Given the description of an element on the screen output the (x, y) to click on. 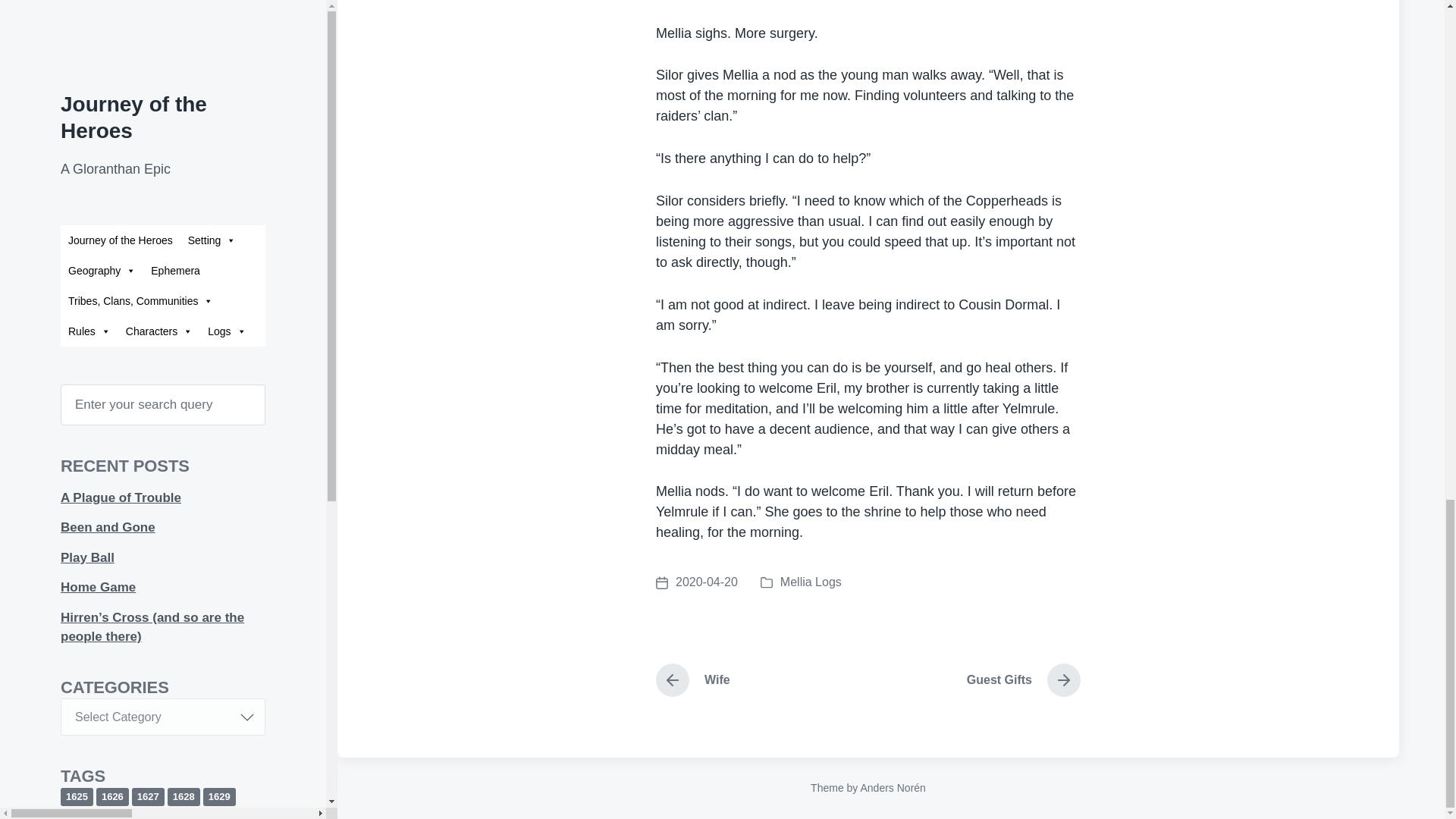
Chief (697, 582)
